Given the description of an element on the screen output the (x, y) to click on. 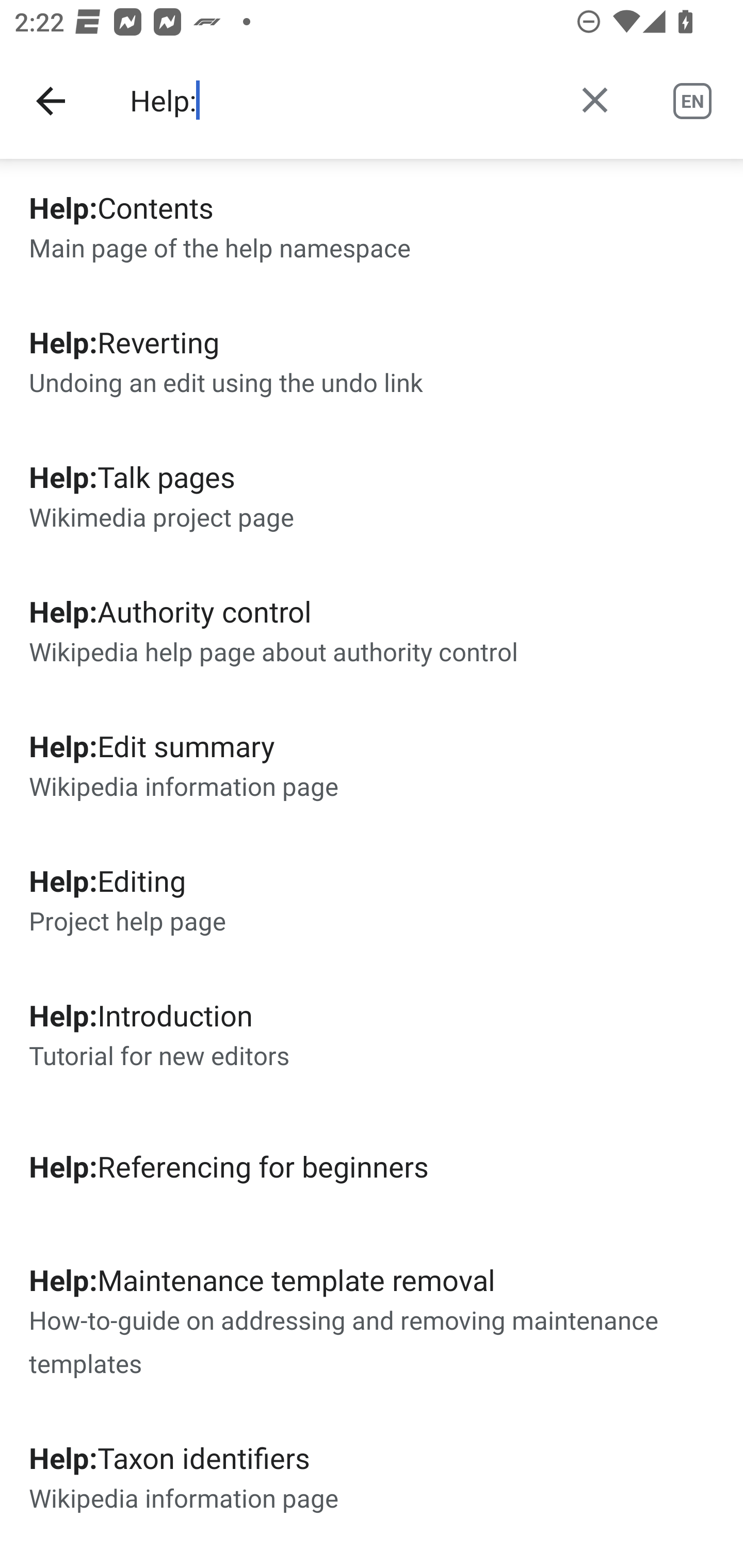
Navigate up (50, 101)
Help: (336, 100)
Clear query (594, 99)
Wikipedia languages EN (692, 100)
Help:Contents Main page of the help namespace (371, 225)
Help:Reverting Undoing an edit using the undo link (371, 360)
Help:Talk pages Wikimedia project page (371, 495)
Help:Edit summary Wikipedia information page (371, 764)
Help:Editing Project help page (371, 898)
Help:Introduction Tutorial for new editors (371, 1032)
Help:Referencing for beginners (371, 1165)
Help:Taxon identifiers Wikipedia information page (371, 1476)
